Given the description of an element on the screen output the (x, y) to click on. 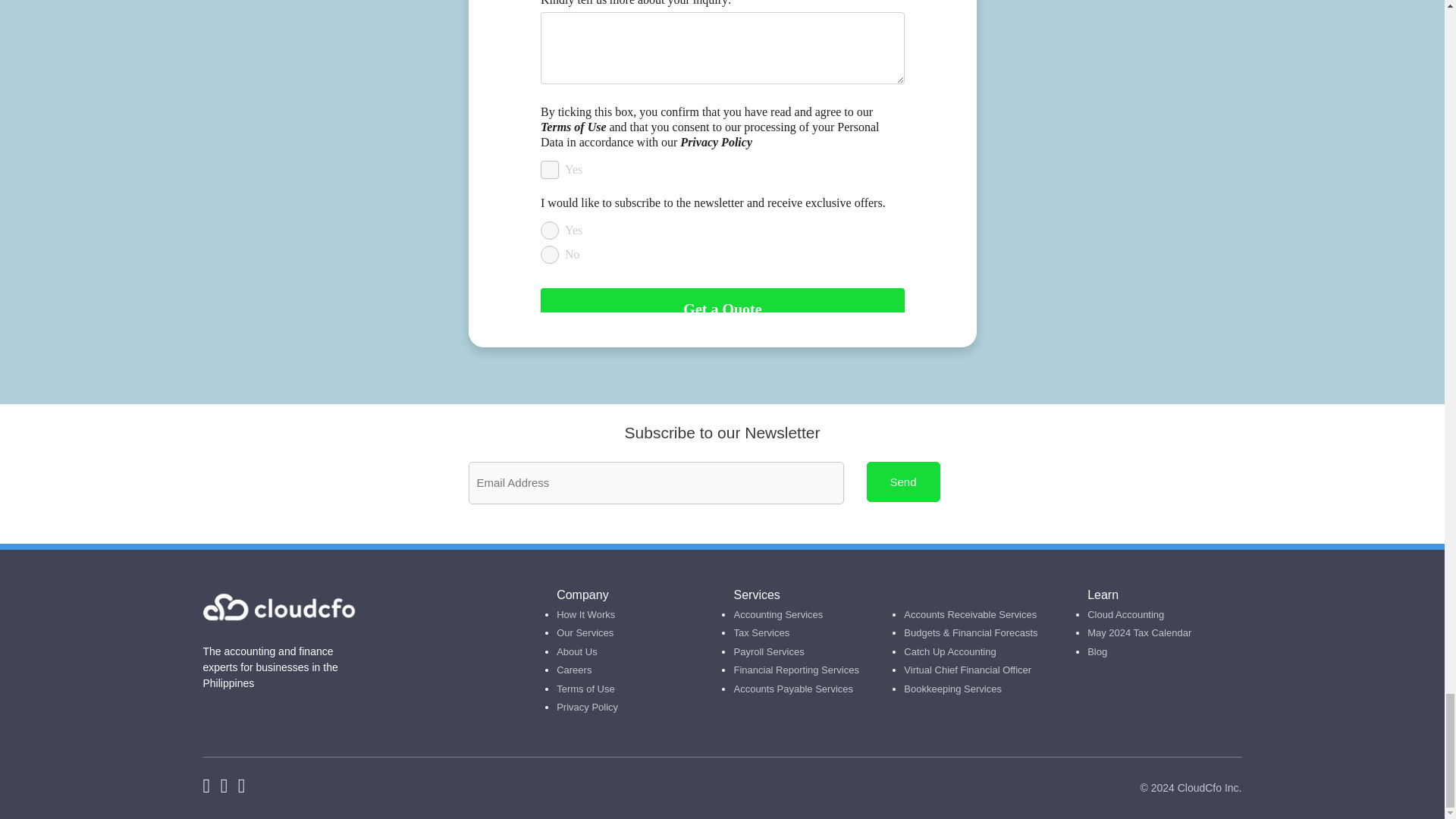
Send (902, 481)
